Given the description of an element on the screen output the (x, y) to click on. 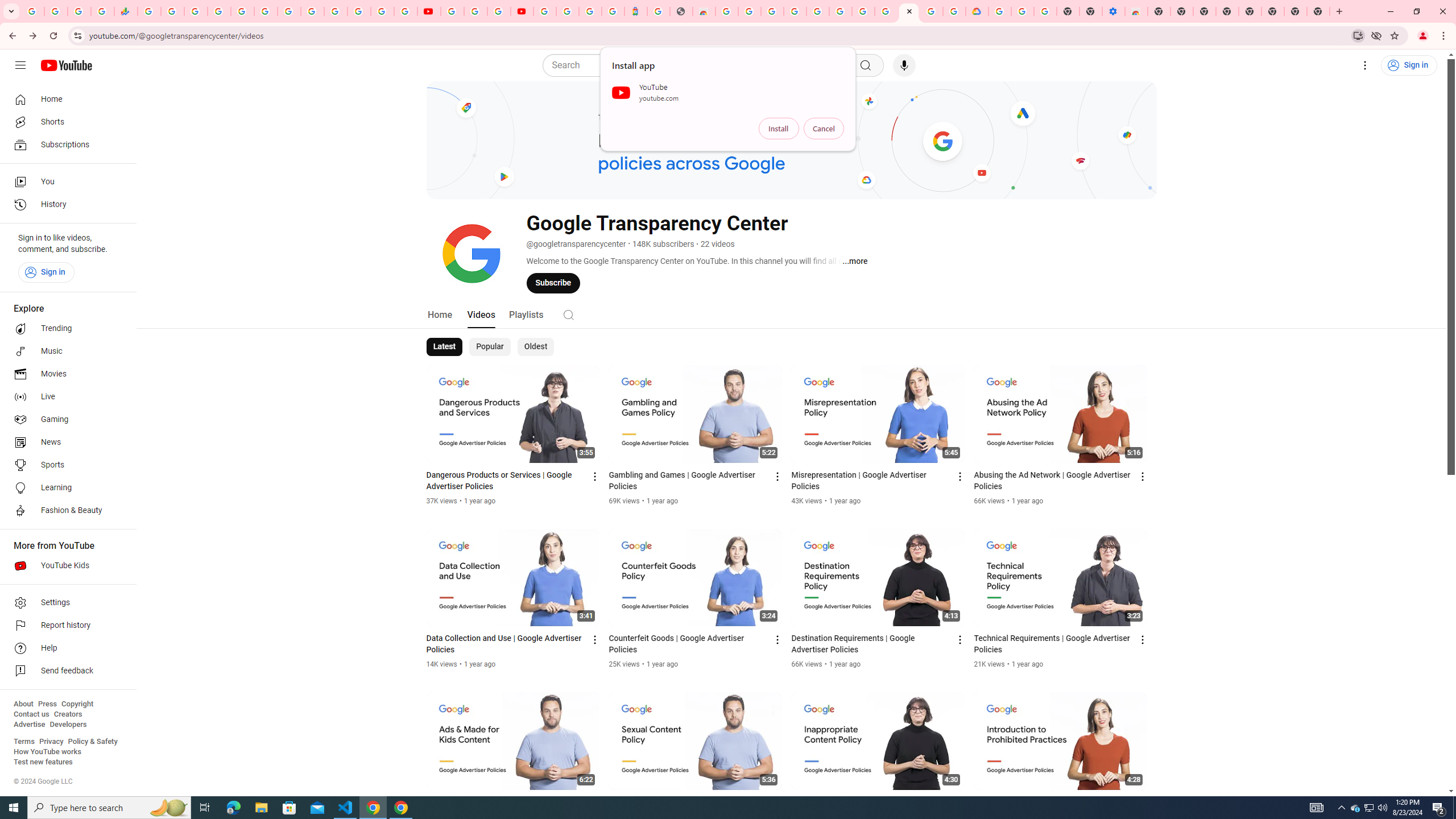
Content Creator Programs & Opportunities - YouTube Creators (521, 11)
